Given the description of an element on the screen output the (x, y) to click on. 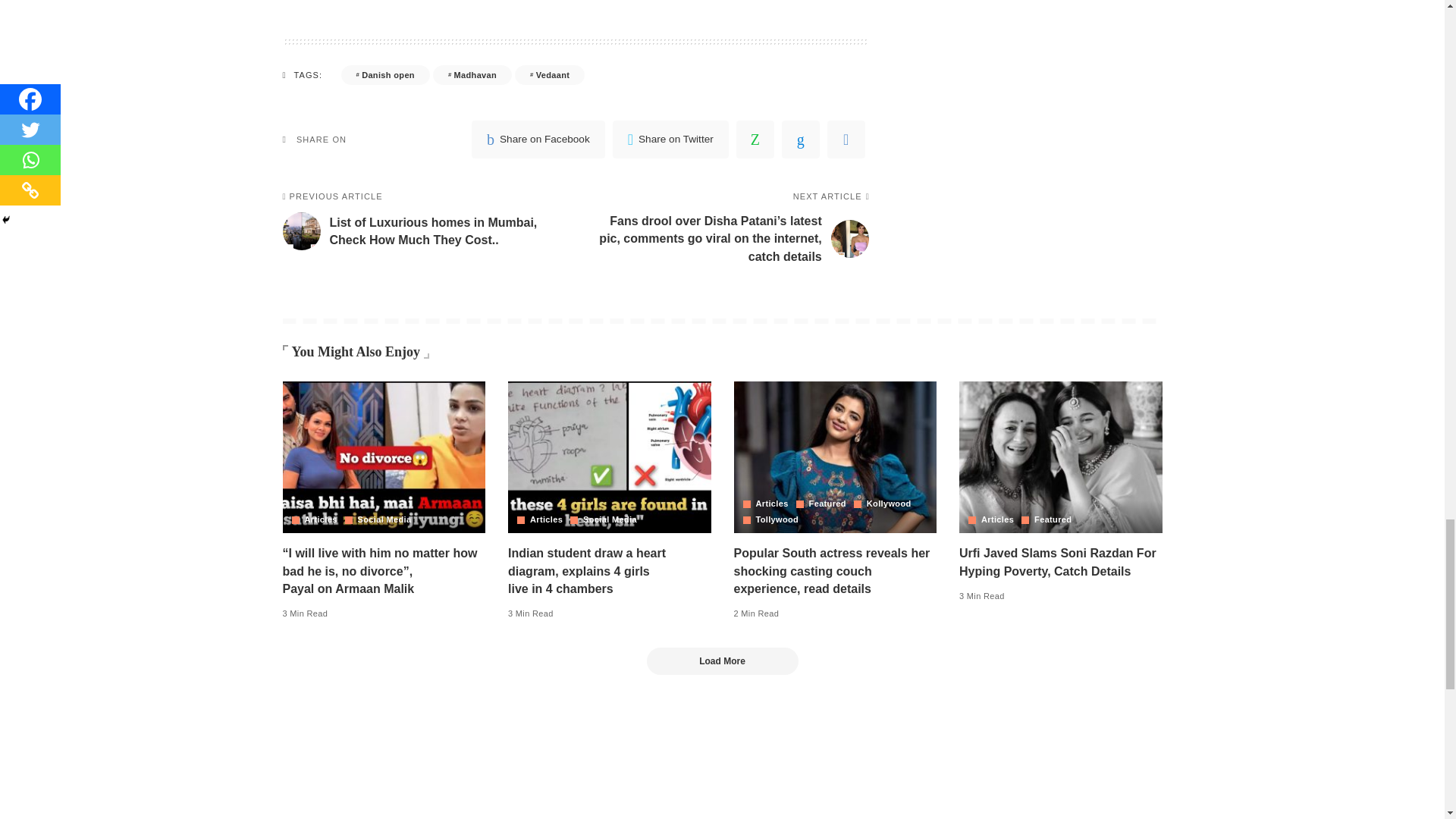
Danish open (384, 75)
